Given the description of an element on the screen output the (x, y) to click on. 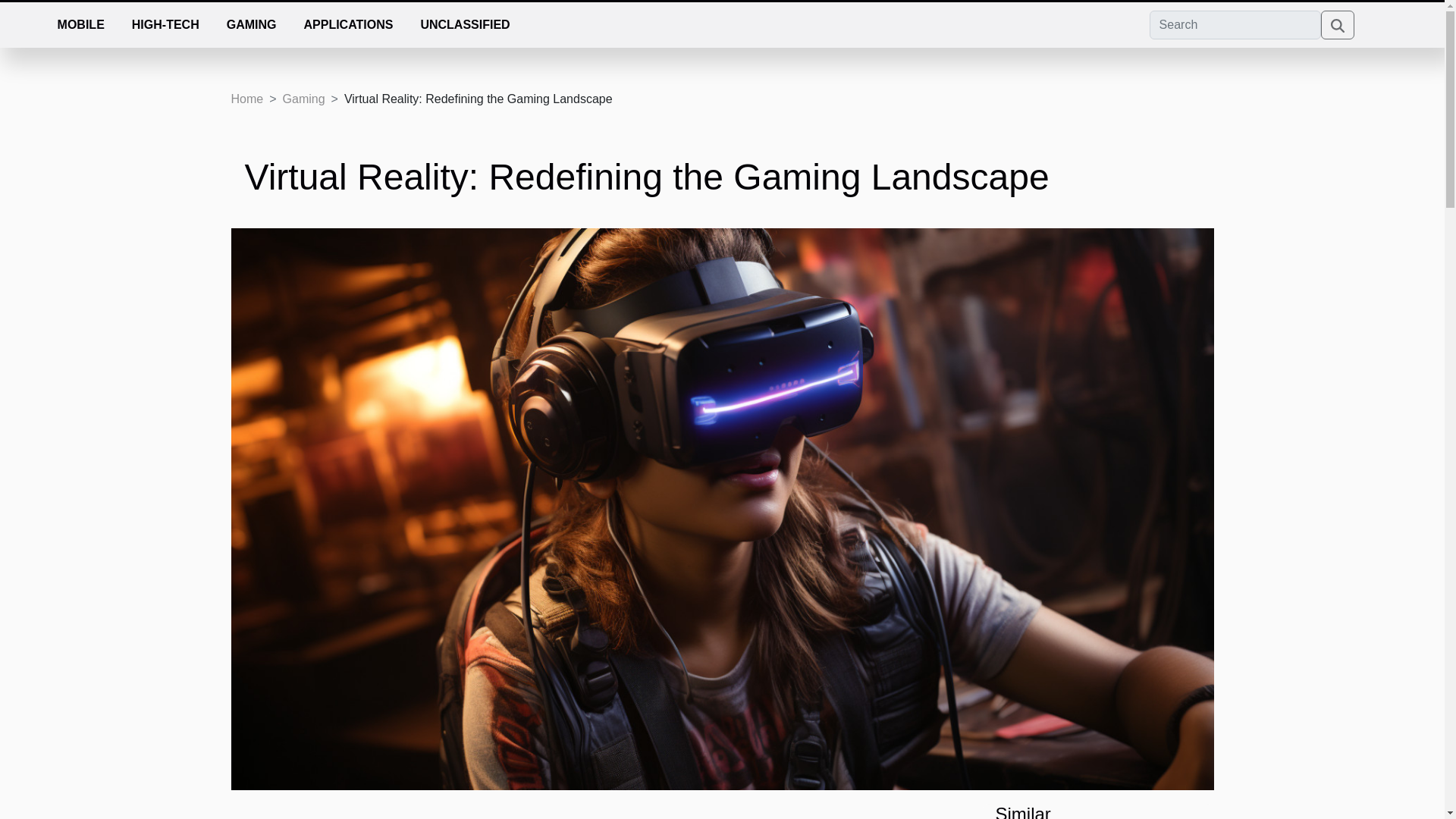
Home (246, 98)
UNCLASSIFIED (464, 24)
HIGH-TECH (164, 24)
GAMING (250, 24)
Gaming (303, 98)
APPLICATIONS (347, 24)
Gaming (303, 98)
MOBILE (80, 24)
